Given the description of an element on the screen output the (x, y) to click on. 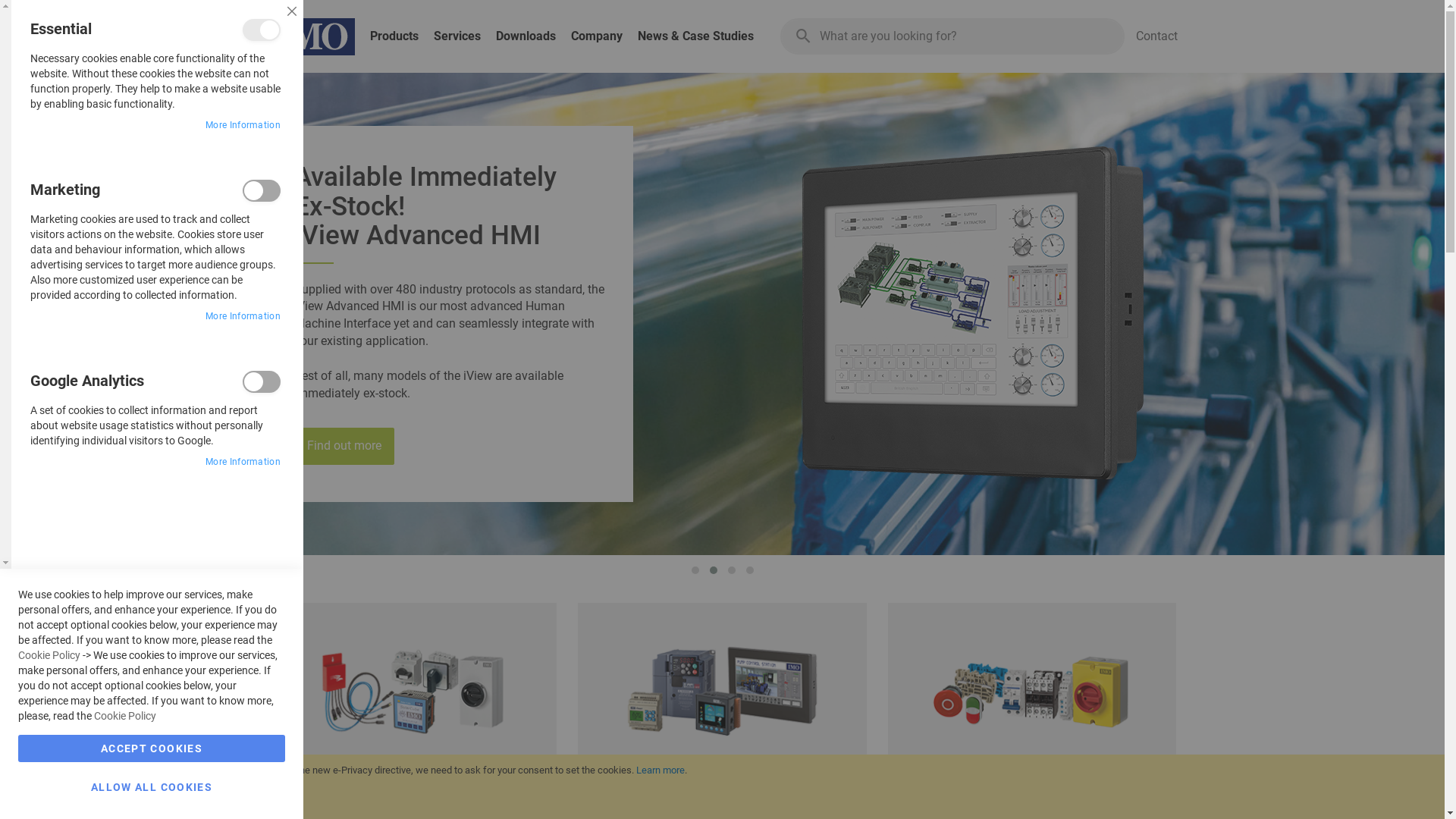
More Information Element type: text (242, 461)
More Information Element type: text (242, 125)
Contact Element type: text (1156, 36)
Services Element type: text (464, 36)
Company Element type: text (603, 36)
Cookie Policy Element type: text (49, 655)
Products Element type: text (401, 36)
ALLOW ALL COOKIES Element type: text (151, 786)
Search Element type: text (802, 37)
More Information Element type: text (242, 316)
Learn more Element type: text (660, 769)
ACCEPT COOKIES Element type: text (151, 748)
Find out more Element type: text (344, 445)
Cookie Policy Element type: text (125, 715)
Allow Cookies Element type: text (64, 797)
Close Element type: text (291, 11)
Downloads Element type: text (533, 36)
News & Case Studies Element type: text (702, 36)
